Given the description of an element on the screen output the (x, y) to click on. 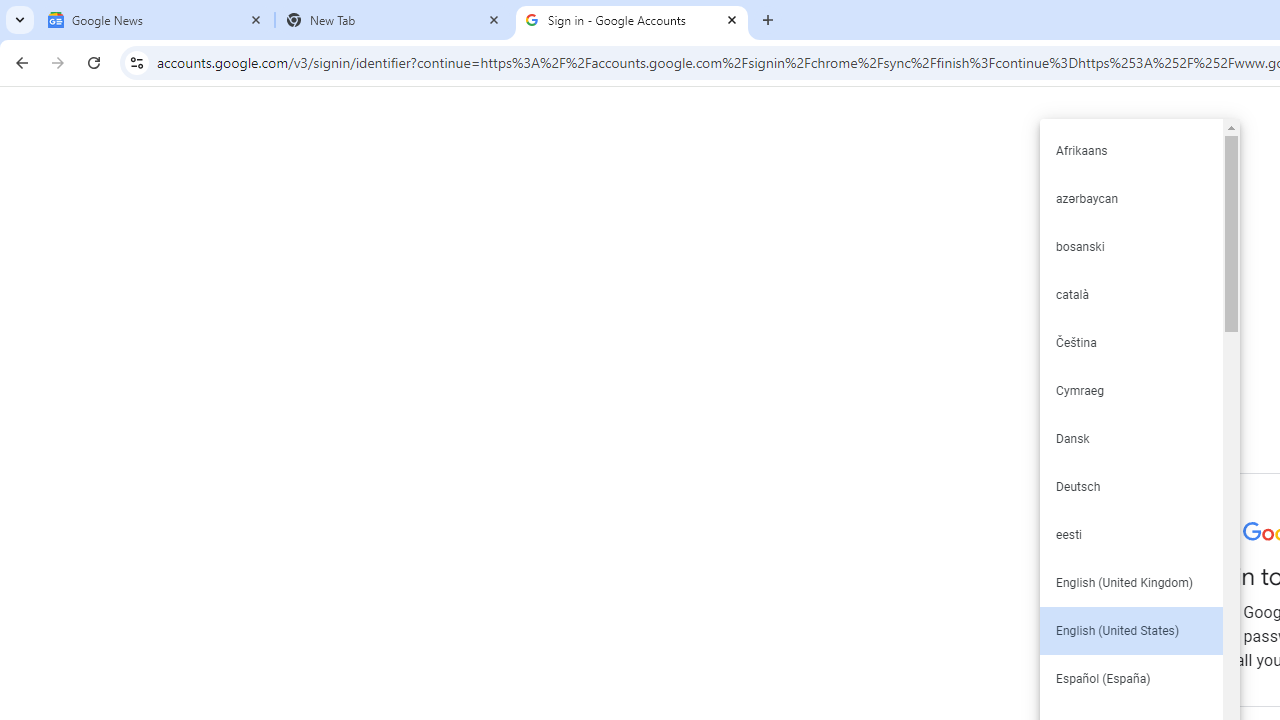
English (United States) (1130, 630)
Deutsch (1130, 486)
Cymraeg (1130, 390)
Sign in - Google Accounts (632, 20)
Dansk (1130, 438)
bosanski (1130, 246)
